Given the description of an element on the screen output the (x, y) to click on. 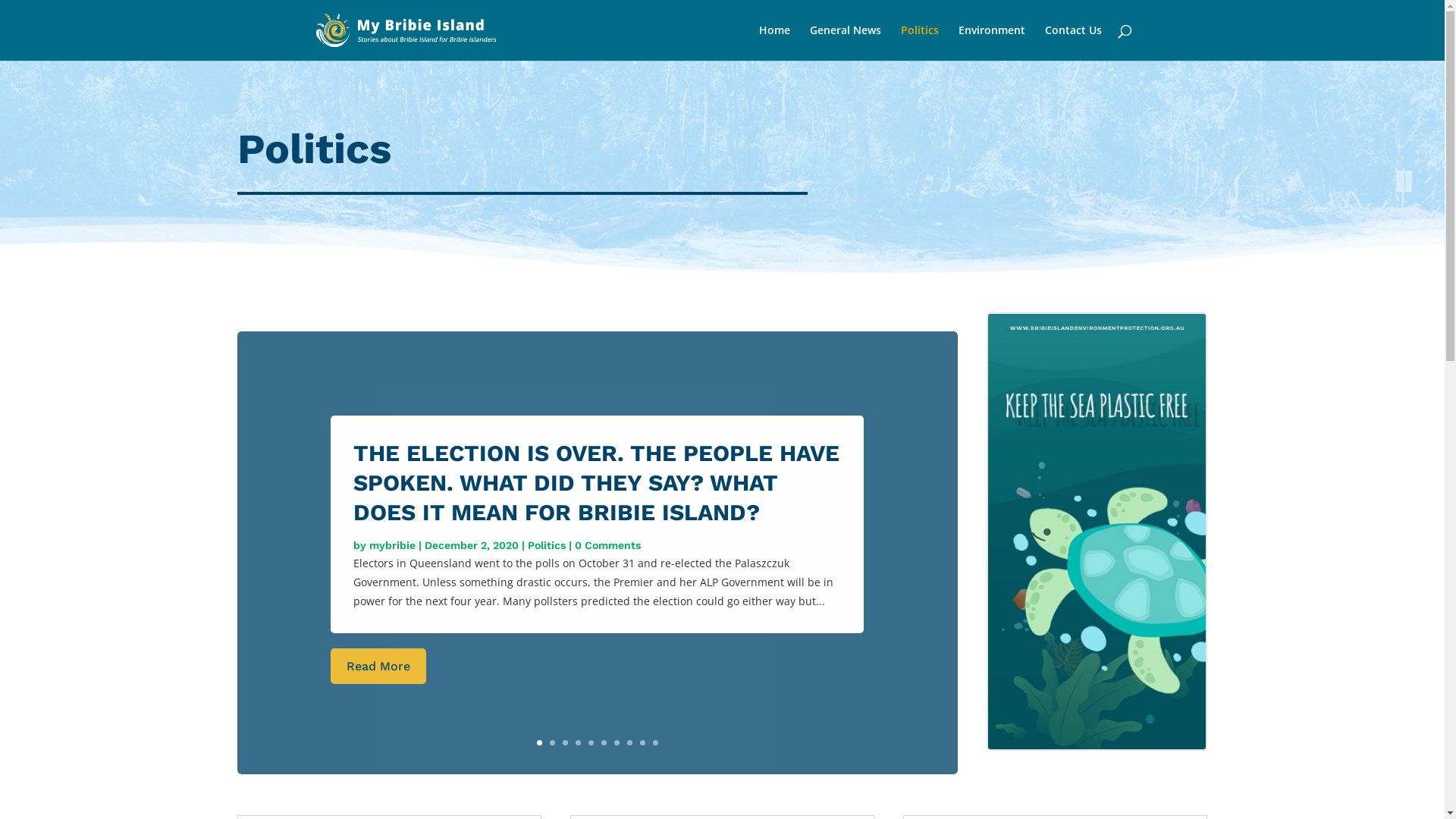
2 Element type: text (552, 742)
Home Element type: text (773, 42)
Environment Element type: text (991, 42)
9 Element type: text (642, 742)
Politics Element type: text (919, 42)
7 Element type: text (616, 742)
General News Element type: text (845, 42)
3 Element type: text (564, 742)
6 Element type: text (603, 742)
5 Element type: text (590, 742)
Read More Element type: text (378, 666)
Contact Us Element type: text (1072, 42)
4 Element type: text (577, 742)
8 Element type: text (629, 742)
mybribie Element type: text (392, 545)
10 Element type: text (655, 742)
Ad Banner Element type: hover (1096, 531)
1 Element type: text (539, 742)
Politics Element type: text (546, 545)
